Given the description of an element on the screen output the (x, y) to click on. 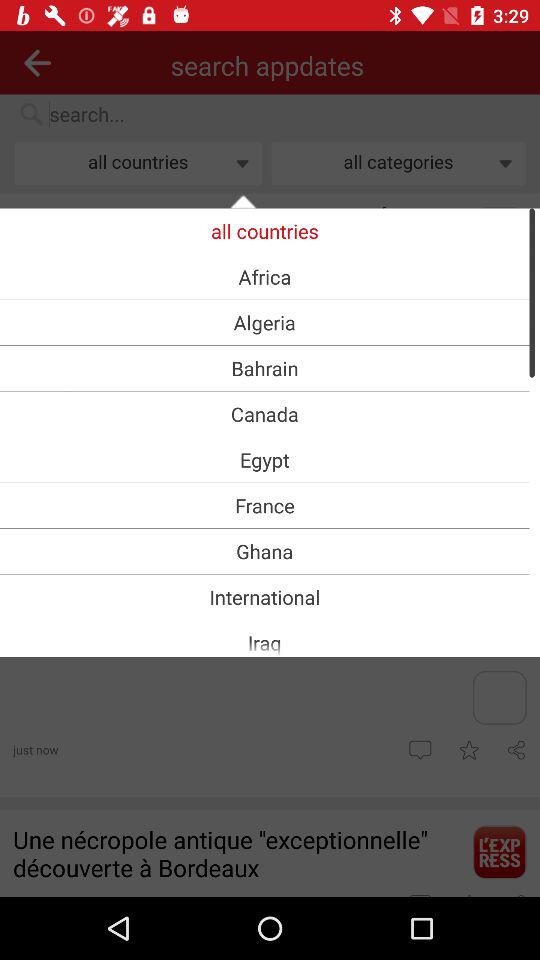
open the item below the bahrain (264, 413)
